Given the description of an element on the screen output the (x, y) to click on. 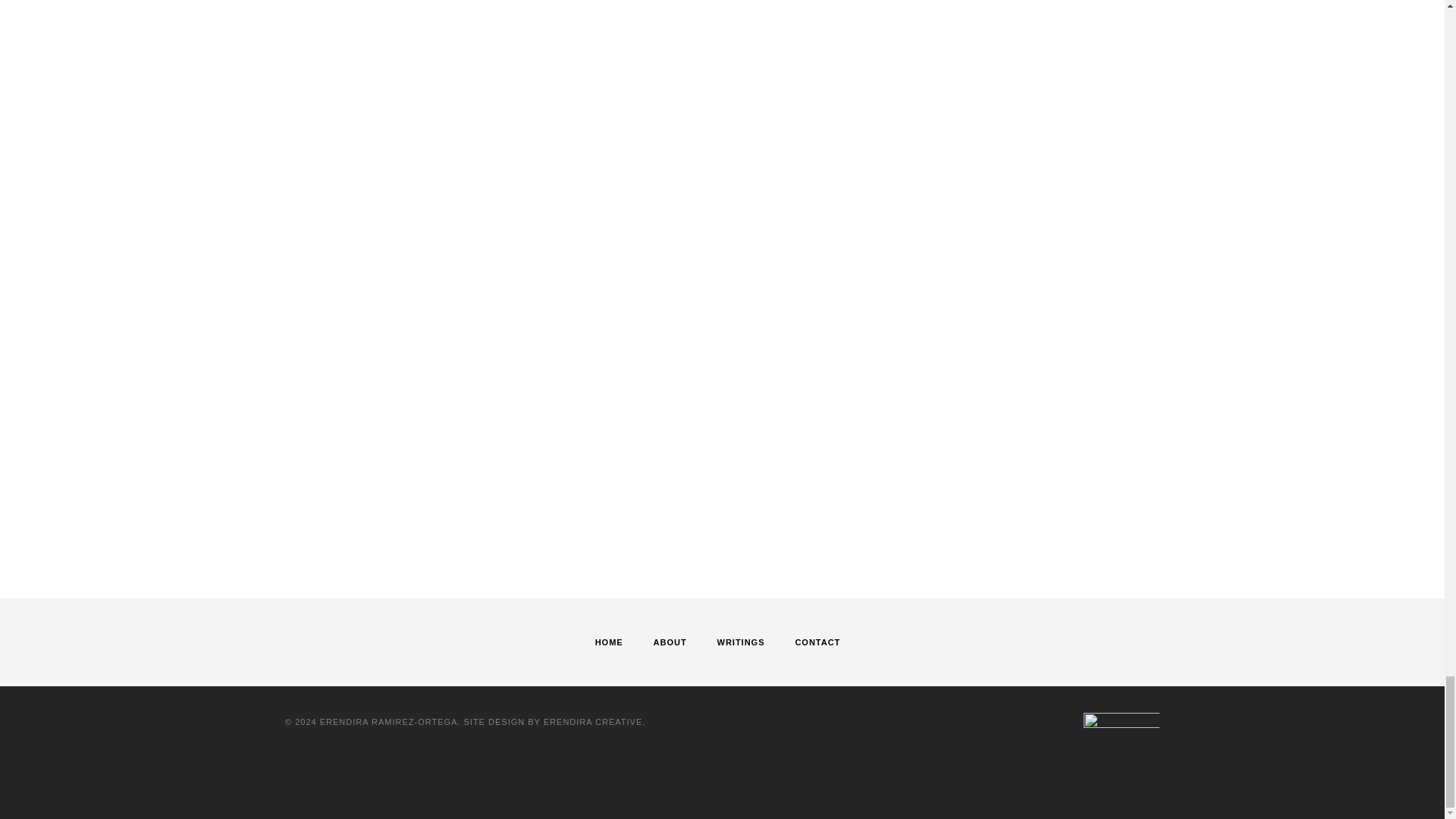
HOME (609, 642)
send message (484, 535)
